Given the description of an element on the screen output the (x, y) to click on. 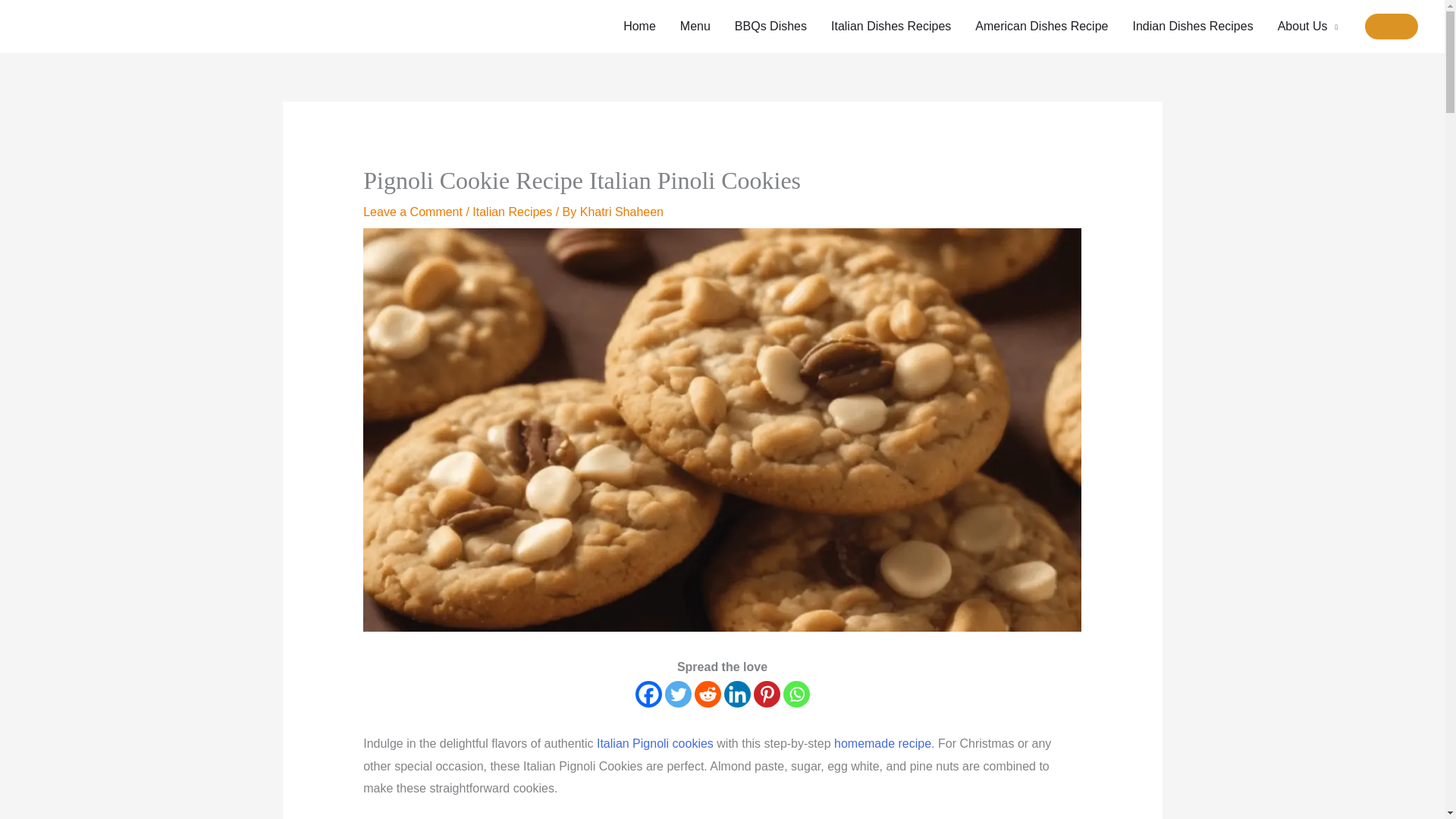
Linkedin (736, 693)
Facebook (648, 693)
Home (639, 26)
Italian Recipes (511, 211)
Twitter (676, 693)
Italian Dishes Recipes (890, 26)
Reddit (707, 693)
View all posts by Khatri Shaheen (621, 211)
Whatsapp (796, 693)
American Dishes Recipe (1040, 26)
